Given the description of an element on the screen output the (x, y) to click on. 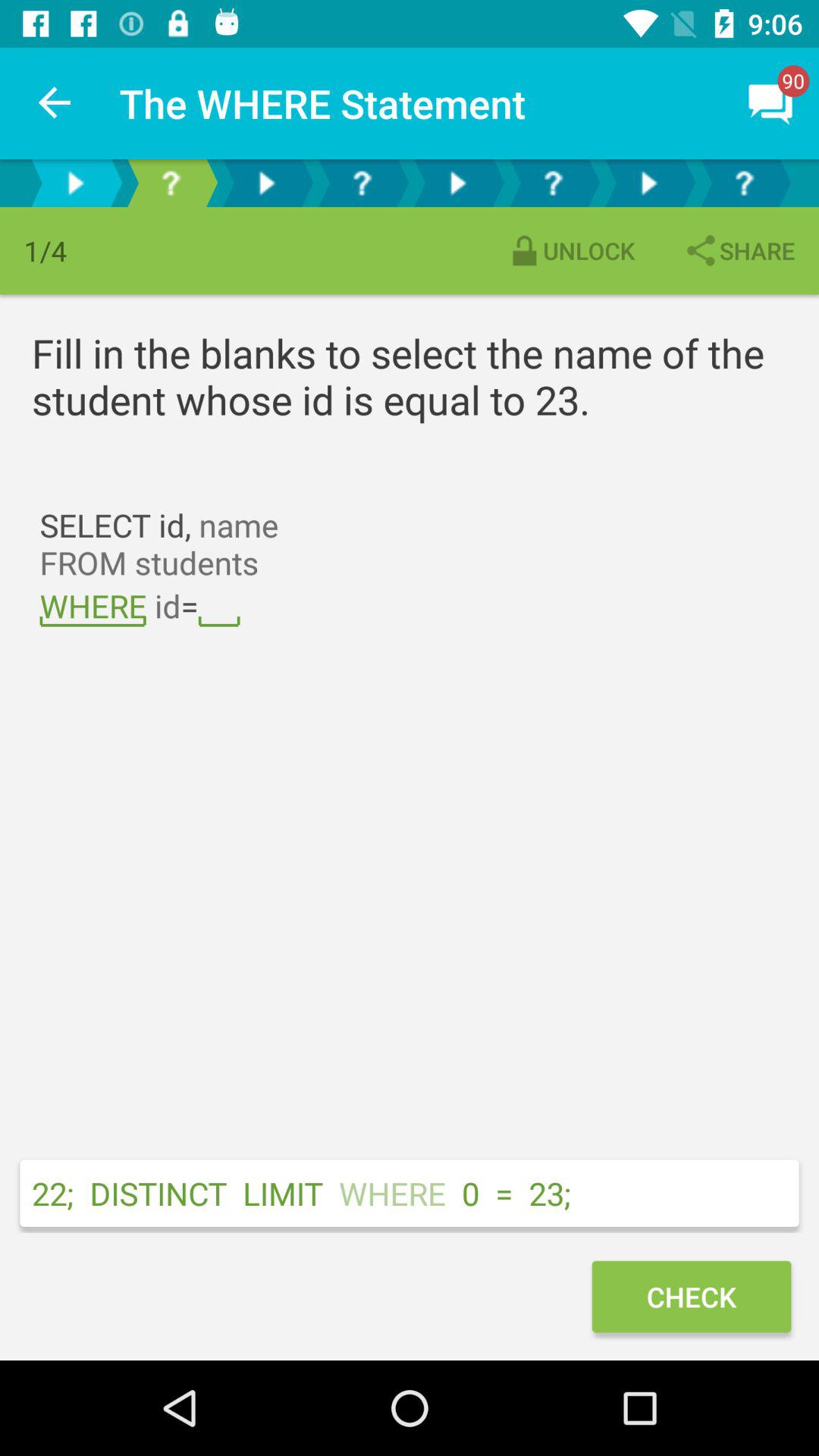
launch the share item (738, 250)
